Given the description of an element on the screen output the (x, y) to click on. 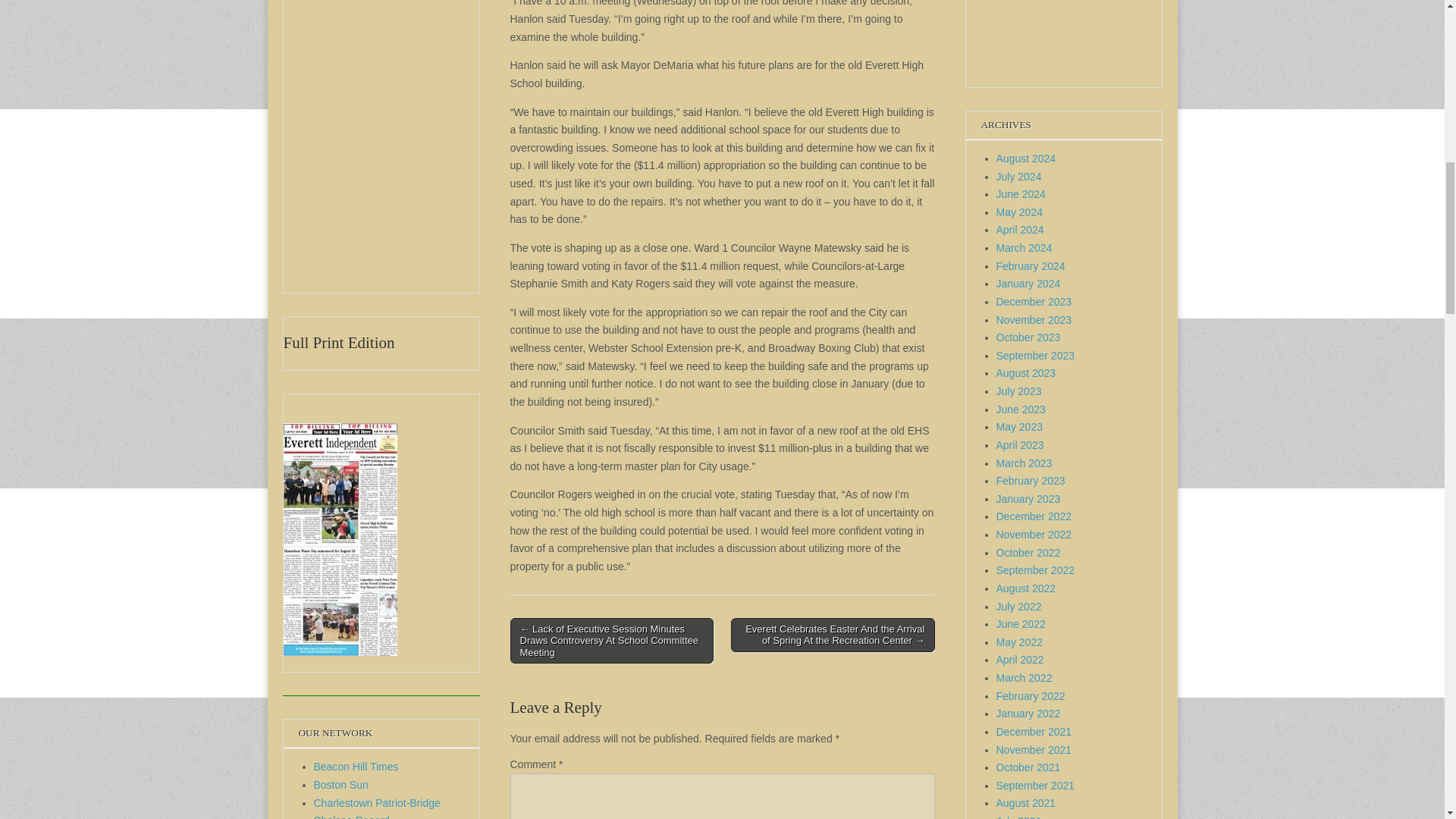
Boston Sun (341, 784)
Beacon Hill Times (356, 766)
Chelsea Record (352, 816)
Charlestown Patriot-Bridge (377, 802)
